Given the description of an element on the screen output the (x, y) to click on. 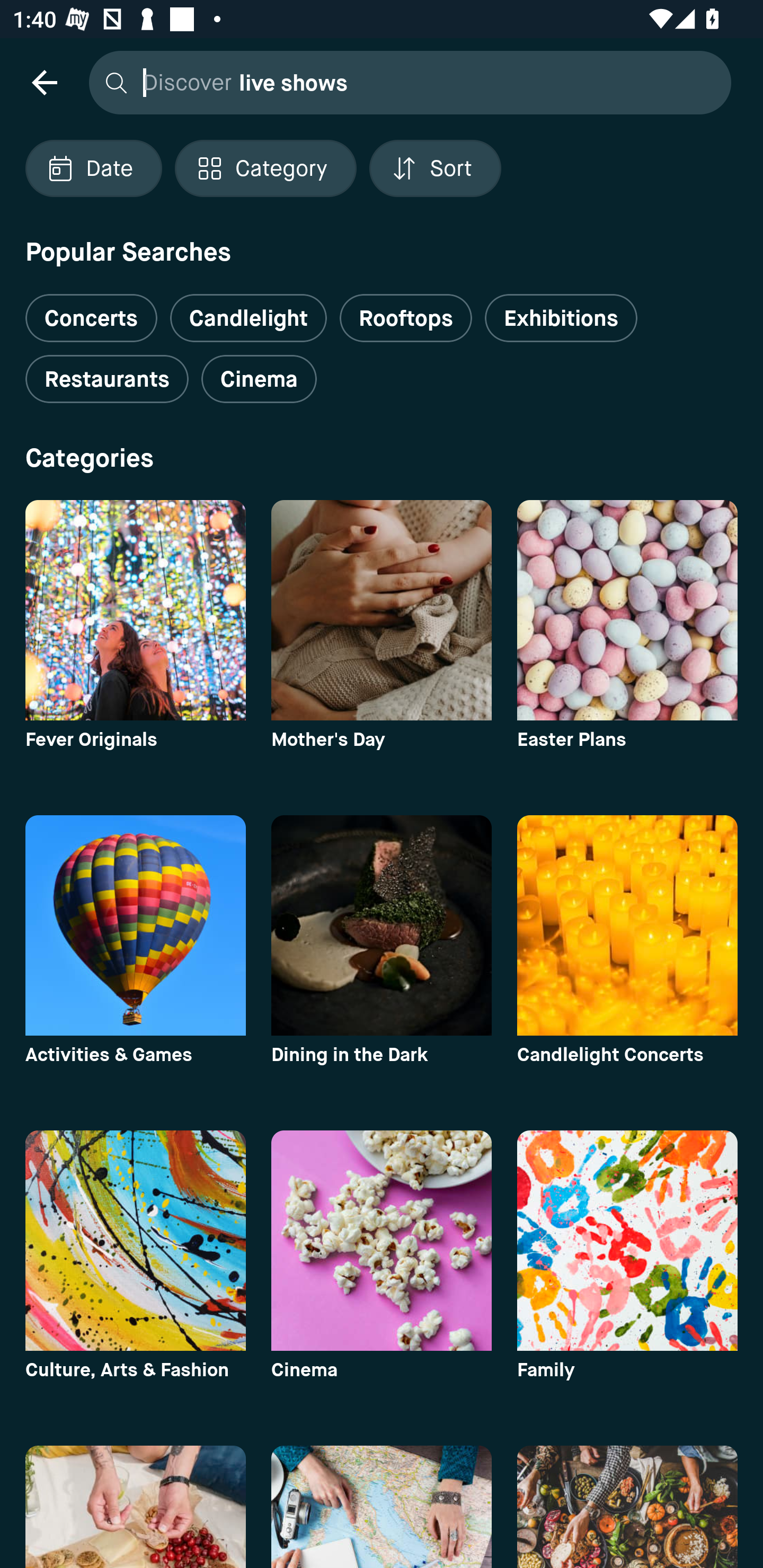
navigation icon (44, 81)
Discover live shows (405, 81)
Localized description Date (93, 168)
Localized description Category (265, 168)
Localized description Sort (435, 168)
Concerts (91, 310)
Candlelight (248, 317)
Rooftops (405, 317)
Exhibitions (560, 317)
Restaurants (106, 379)
Cinema (258, 379)
category image (135, 609)
category image (381, 609)
category image (627, 609)
category image (135, 924)
category image (381, 924)
category image (627, 924)
category image (135, 1240)
category image (381, 1240)
category image (627, 1240)
category image (135, 1506)
category image (381, 1506)
category image (627, 1506)
